Given the description of an element on the screen output the (x, y) to click on. 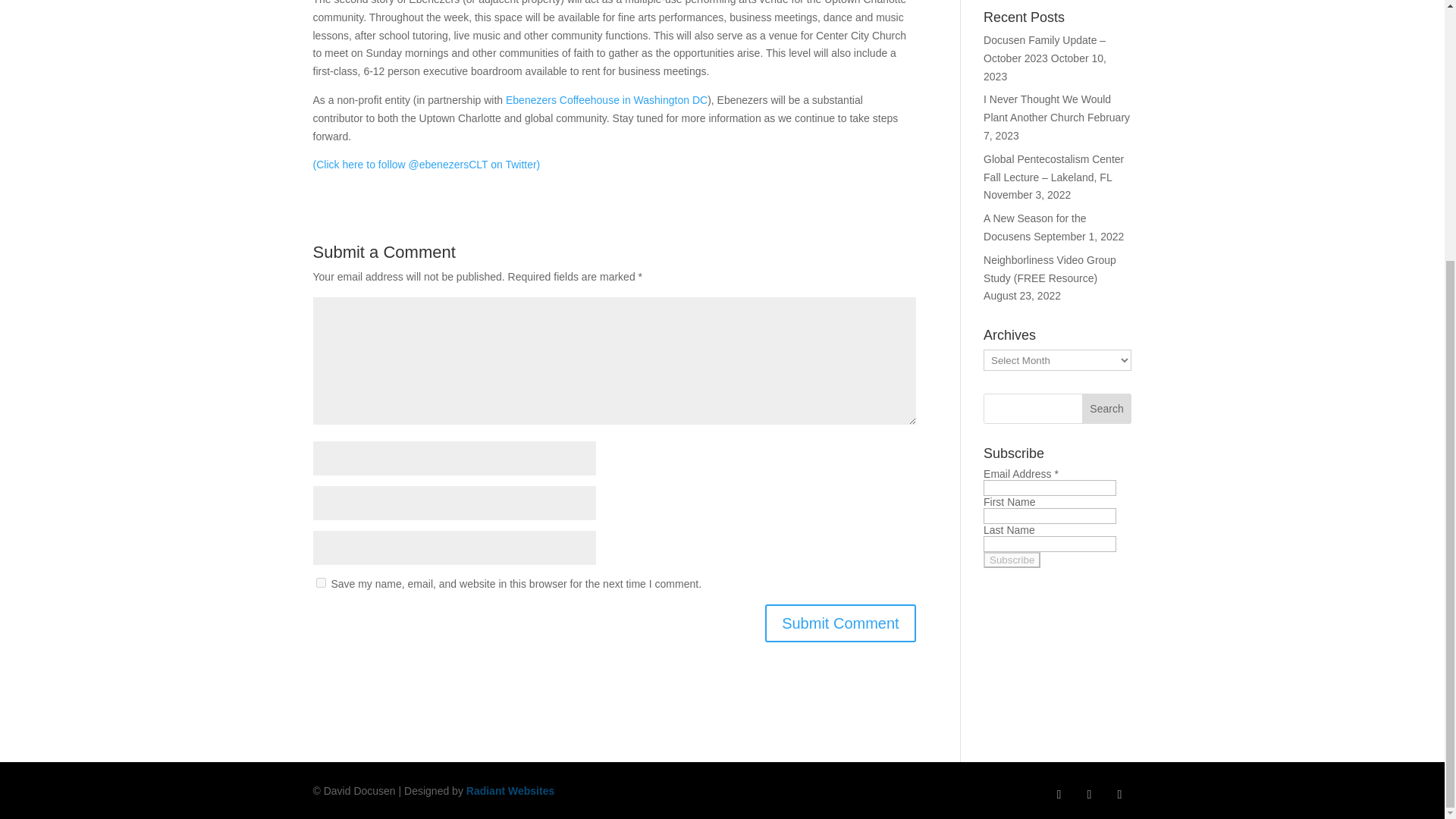
I Never Thought We Would Plant Another Church (1047, 108)
Submit Comment (840, 623)
Search (1106, 408)
Follow on Instagram (1118, 794)
Follow on X (1088, 794)
Ebenezers Coffeehouse in Washington DC (606, 100)
Subscribe (1012, 560)
A New Season for the Docusens (1035, 227)
Submit Comment (840, 623)
Follow on Facebook (1058, 794)
Search (1106, 408)
yes (319, 583)
